Given the description of an element on the screen output the (x, y) to click on. 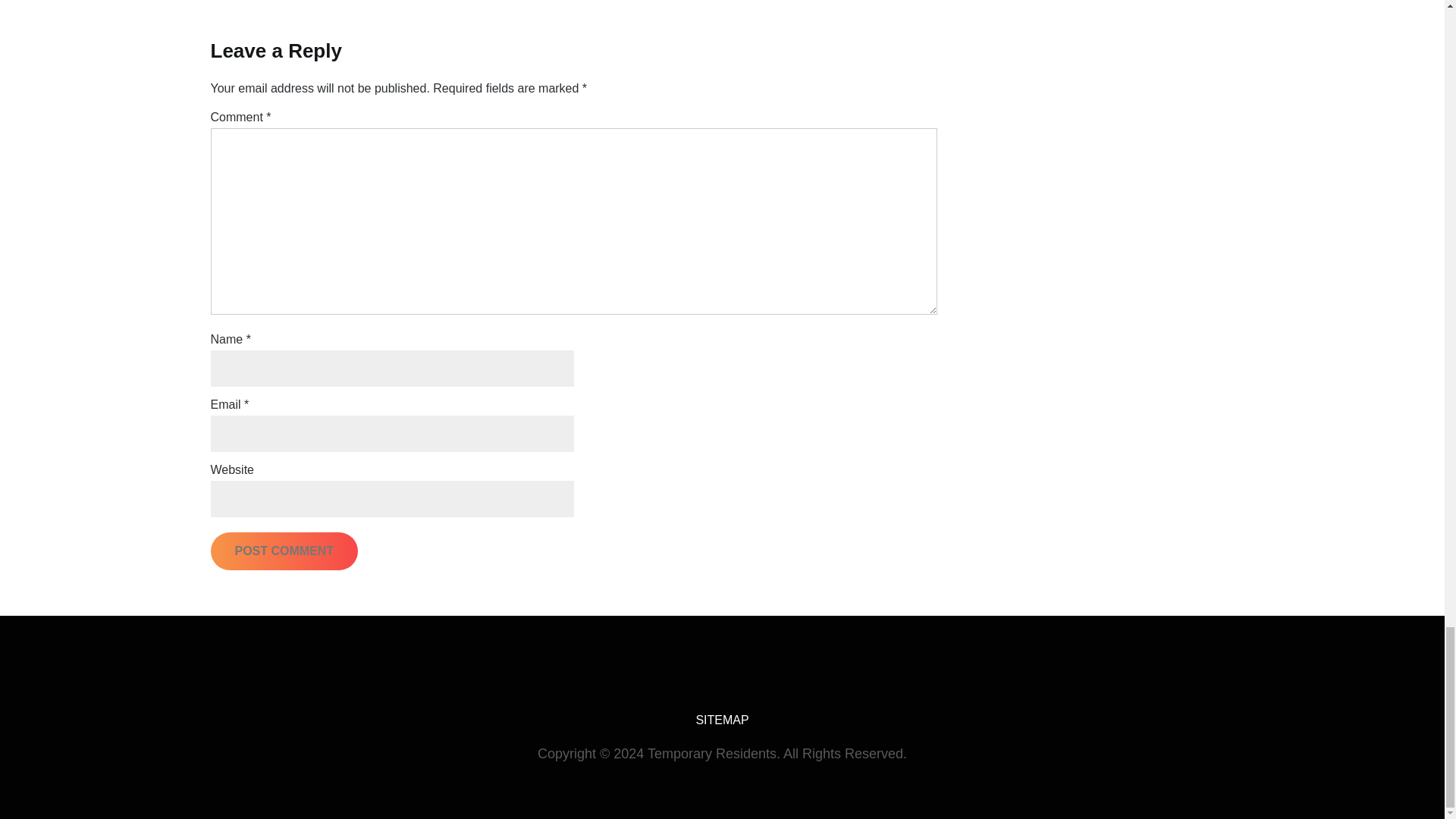
Post Comment (284, 551)
Post Comment (284, 551)
